Given the description of an element on the screen output the (x, y) to click on. 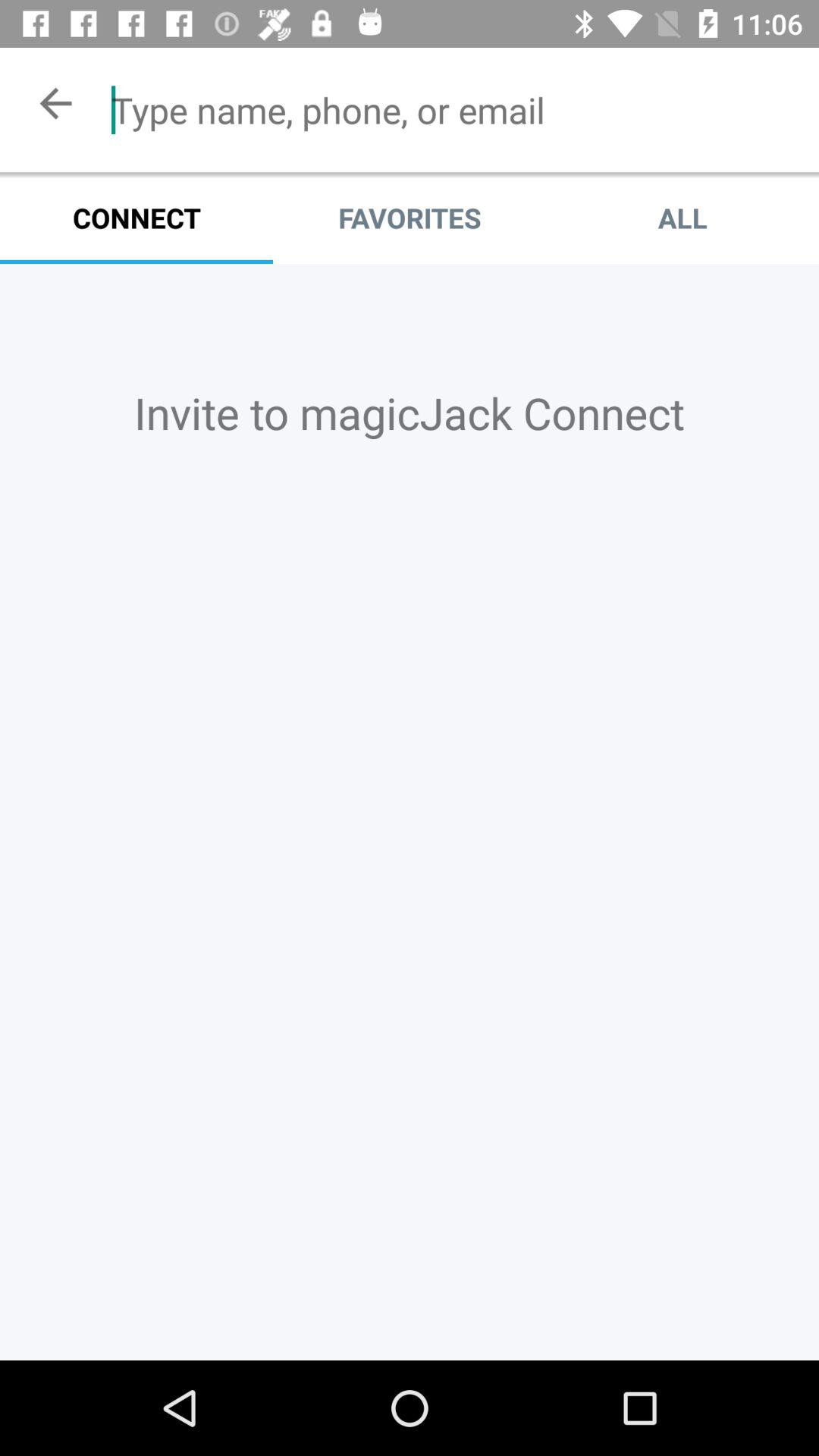
type name phone or email (453, 109)
